Given the description of an element on the screen output the (x, y) to click on. 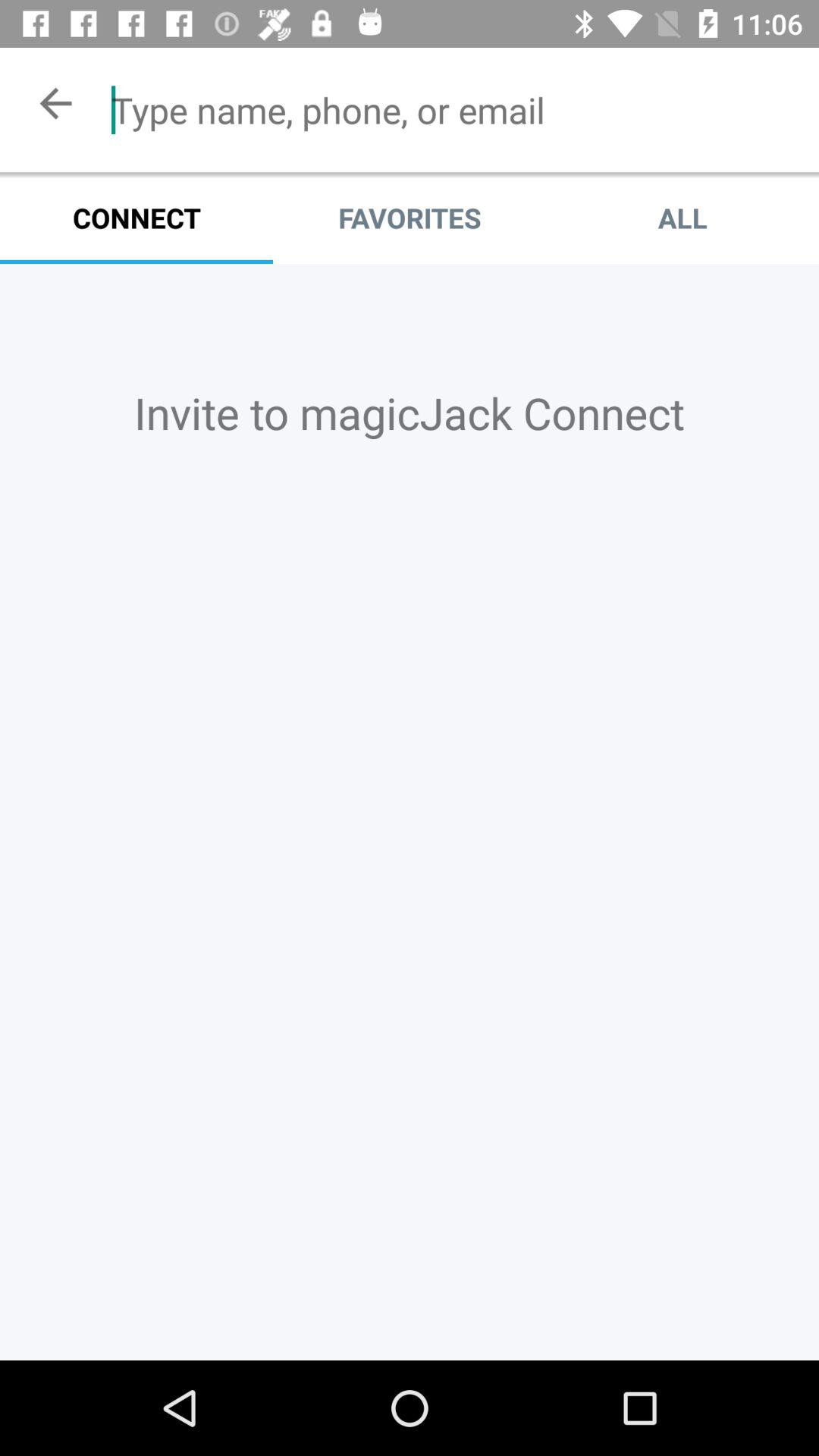
type name phone or email (453, 109)
